Given the description of an element on the screen output the (x, y) to click on. 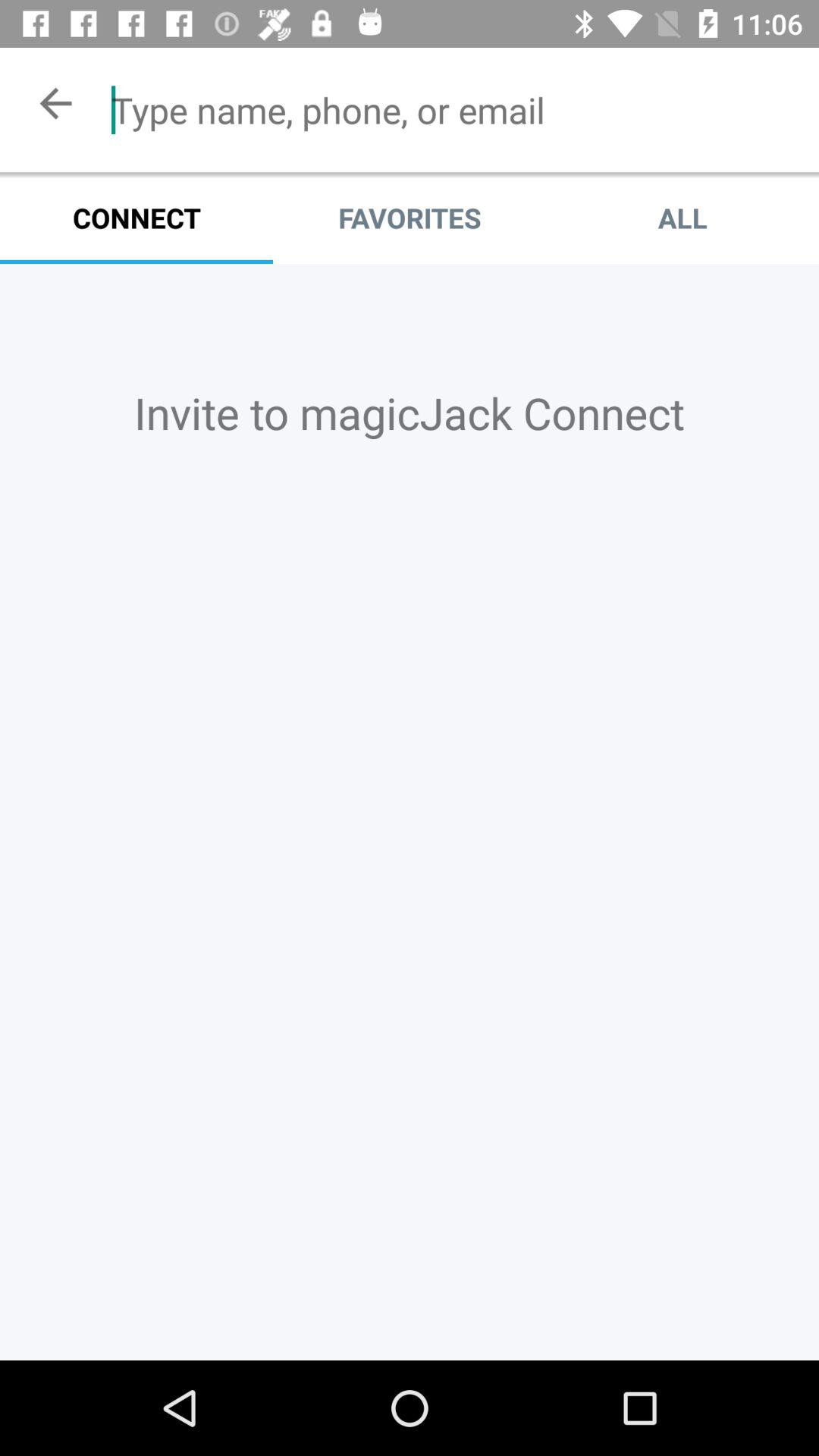
type name phone or email (453, 109)
